Given the description of an element on the screen output the (x, y) to click on. 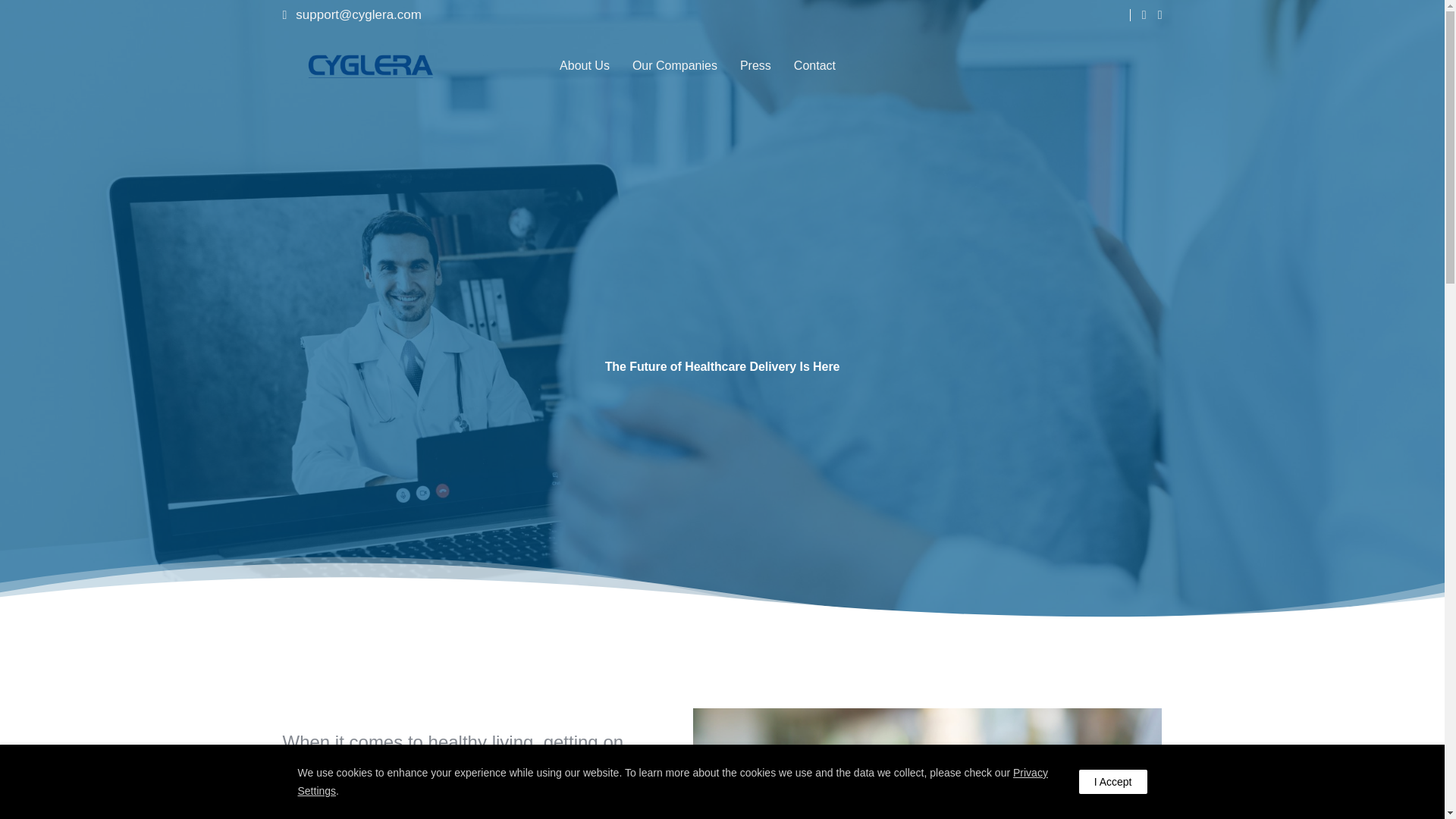
About Us (584, 65)
Contact (814, 65)
Contact (814, 65)
Press (755, 65)
Our Companies (674, 65)
Press (755, 65)
Closeup of business woman hand typing on laptop keyboard (927, 763)
Our Companies (674, 65)
About Us (584, 65)
Privacy Settings (671, 781)
